Given the description of an element on the screen output the (x, y) to click on. 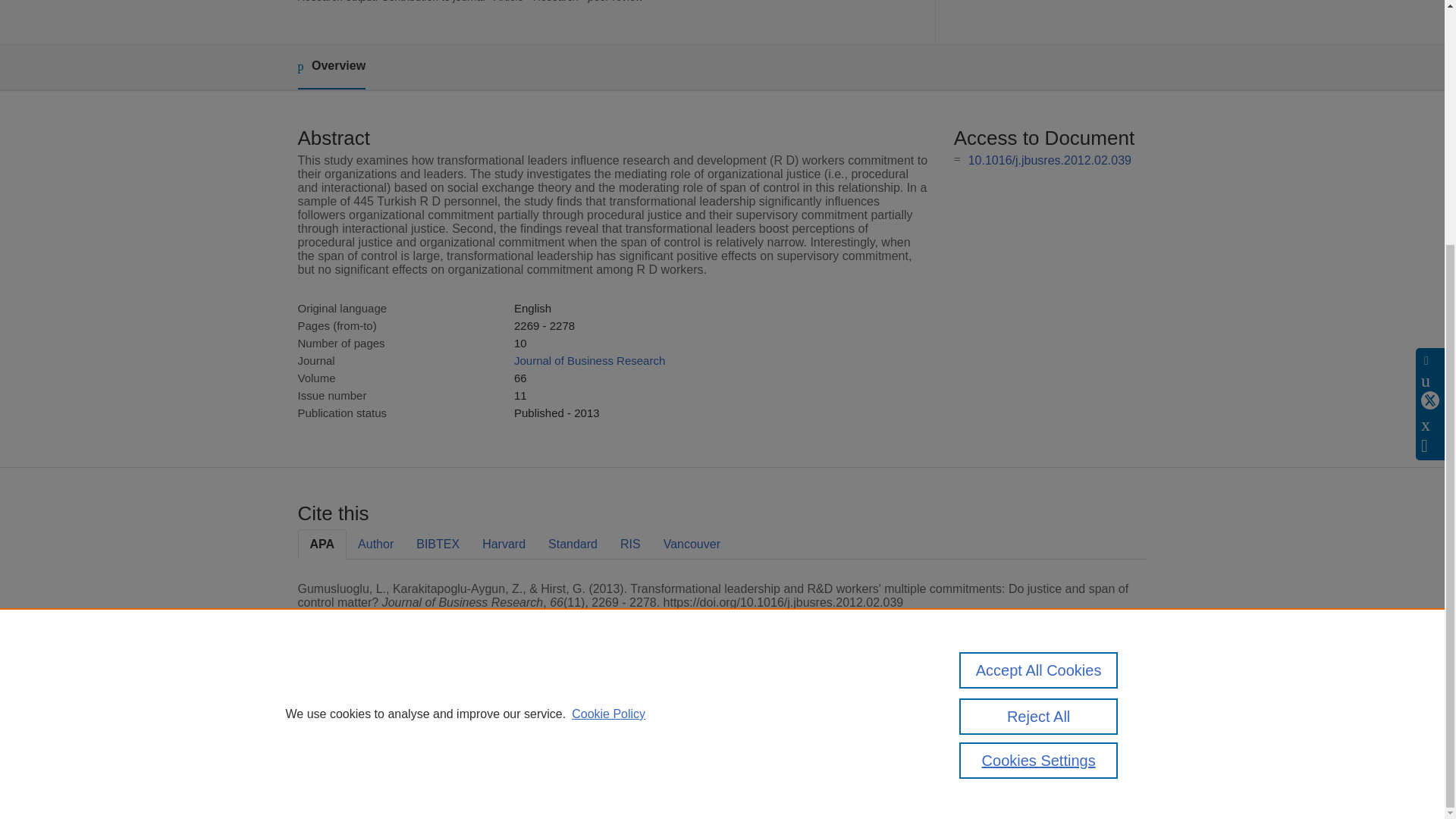
Pure (362, 708)
Cookies Settings (334, 781)
Journal of Business Research (589, 359)
Contact us (1123, 713)
Scopus (394, 708)
Elsevier B.V. (506, 728)
use of cookies (796, 760)
Cookie Policy (608, 373)
Overview (331, 67)
About web accessibility (1008, 740)
Reject All (1038, 376)
Monash University data protection policy (1009, 713)
Cookies Settings (1038, 420)
Report vulnerability (1000, 760)
